Given the description of an element on the screen output the (x, y) to click on. 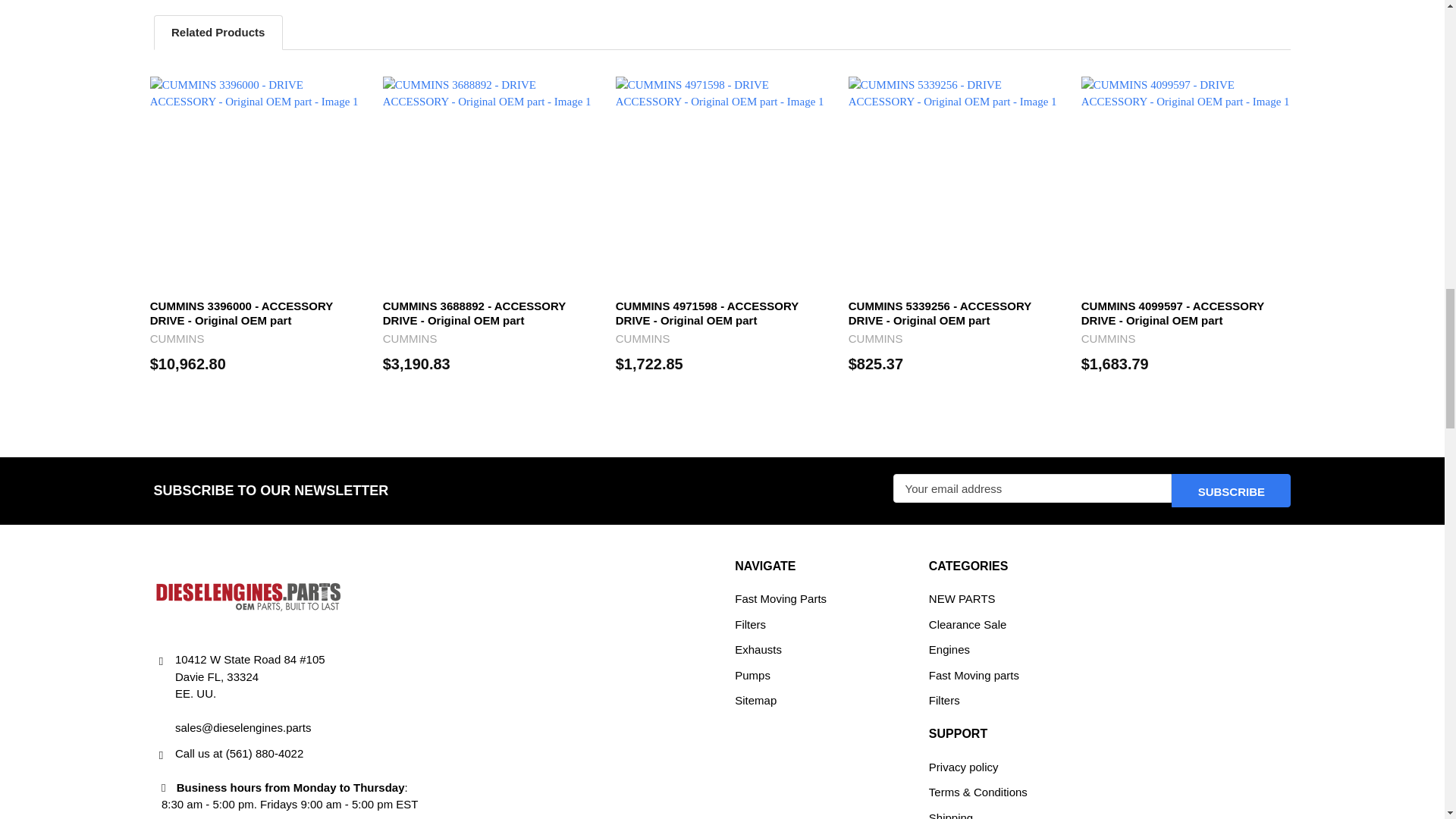
Subscribe (1231, 490)
